Given the description of an element on the screen output the (x, y) to click on. 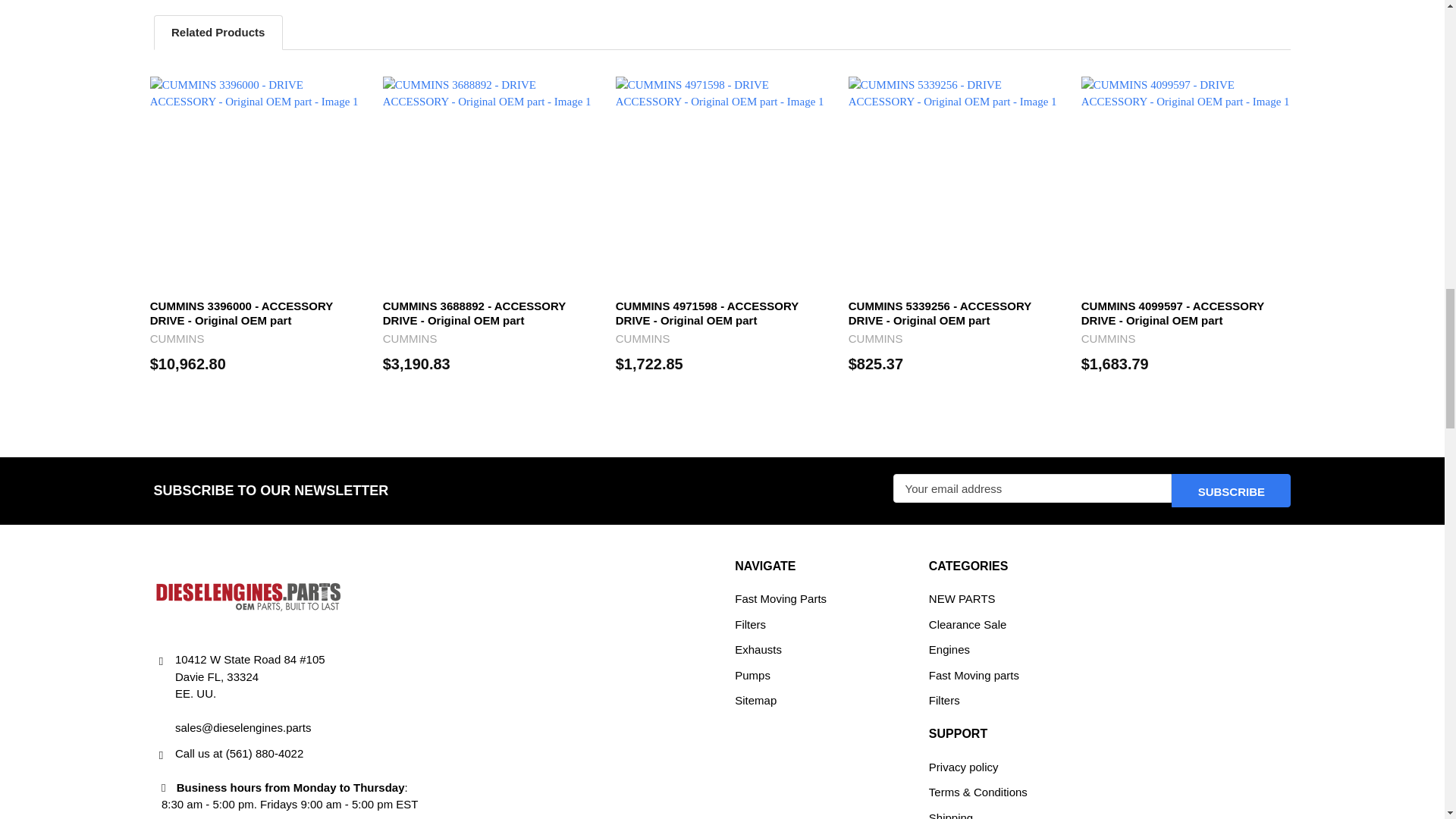
Subscribe (1231, 490)
